Given the description of an element on the screen output the (x, y) to click on. 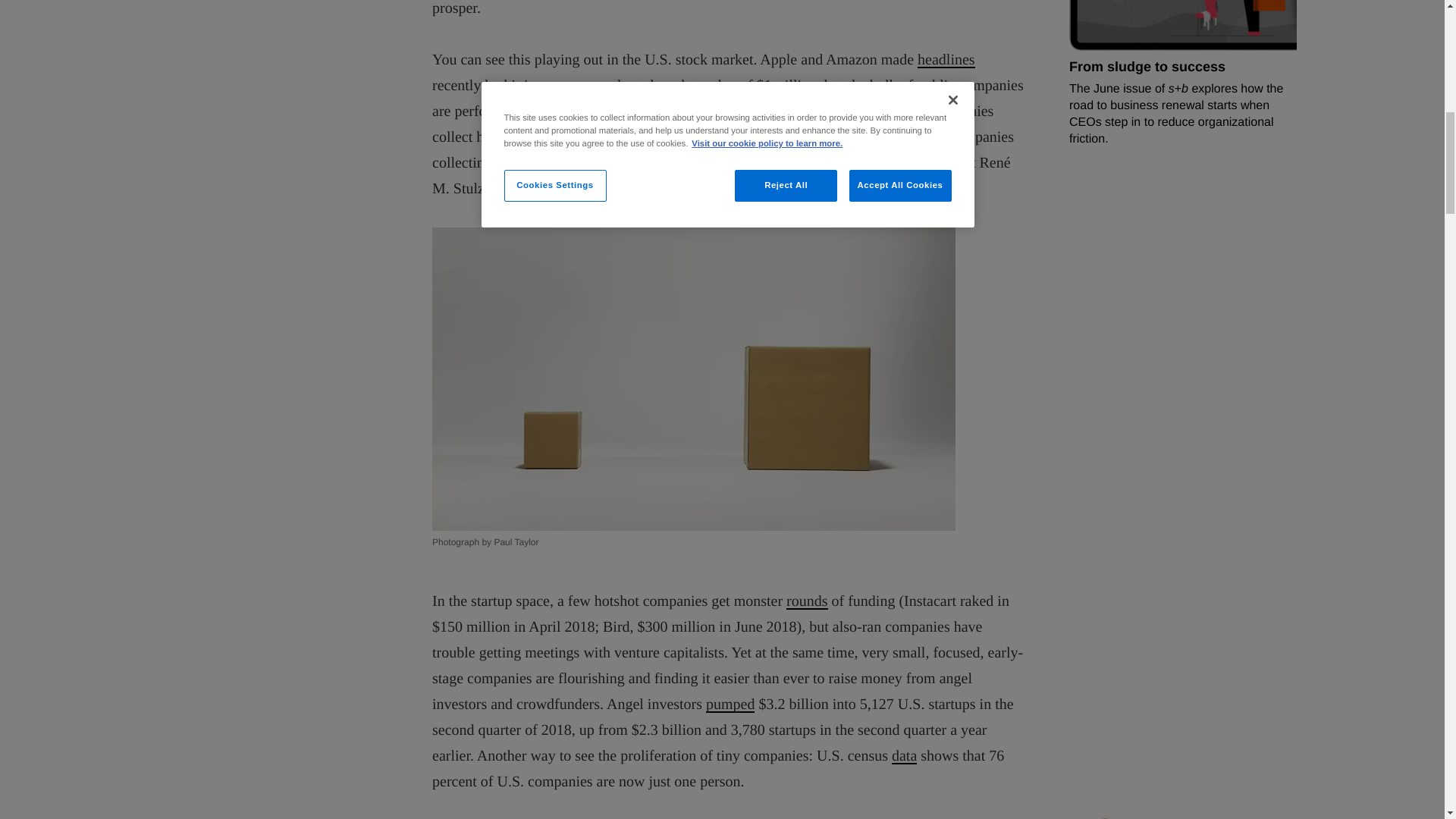
Illustration of flying birds delivering information (1067, 74)
